Given the description of an element on the screen output the (x, y) to click on. 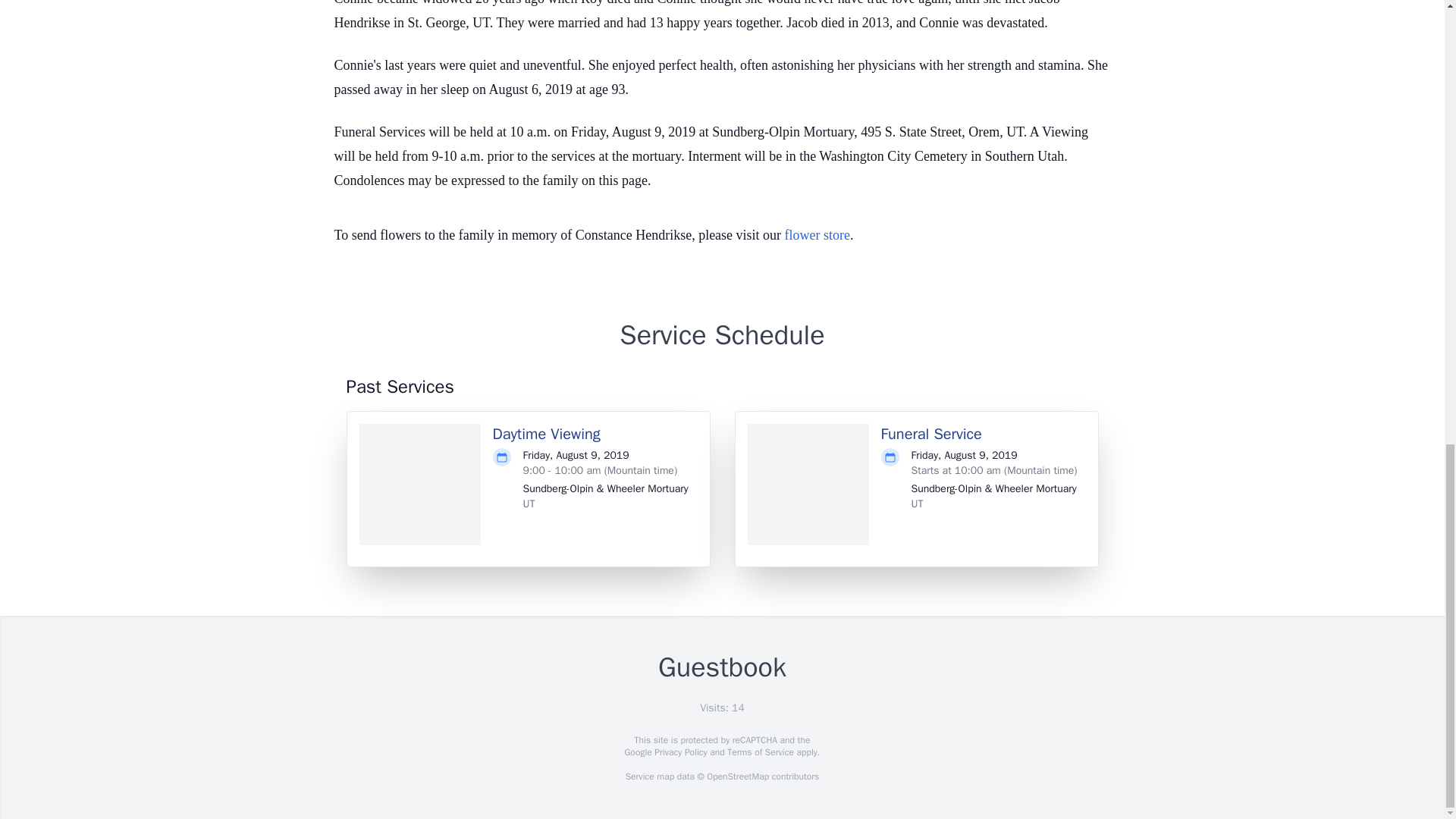
OpenStreetMap (737, 776)
UT (917, 503)
flower store (817, 234)
Terms of Service (759, 752)
Privacy Policy (679, 752)
UT (528, 503)
